Given the description of an element on the screen output the (x, y) to click on. 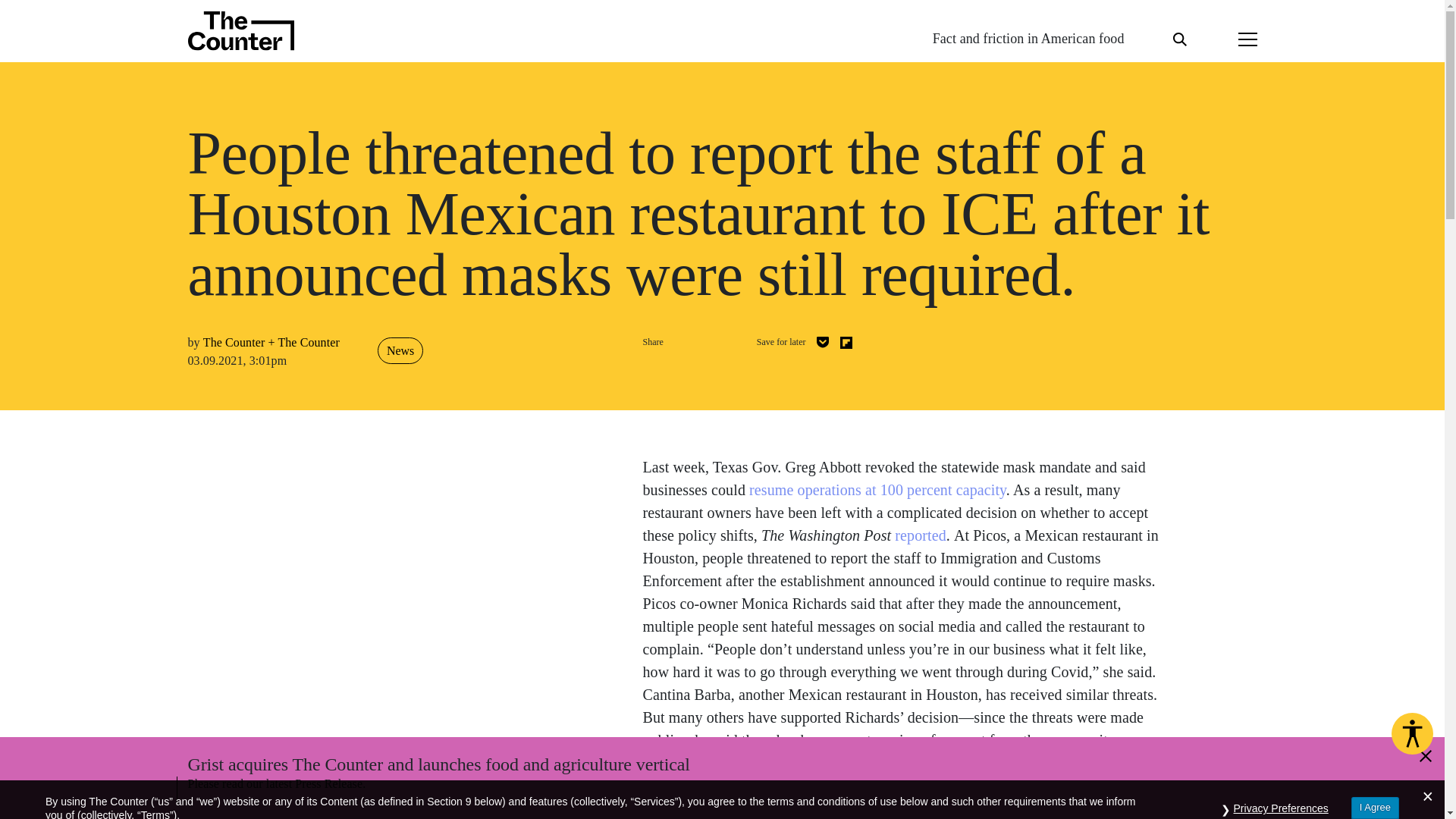
reported (919, 535)
News (400, 350)
resume operations at 100 percent capacity (877, 489)
The Counter (308, 341)
